Given the description of an element on the screen output the (x, y) to click on. 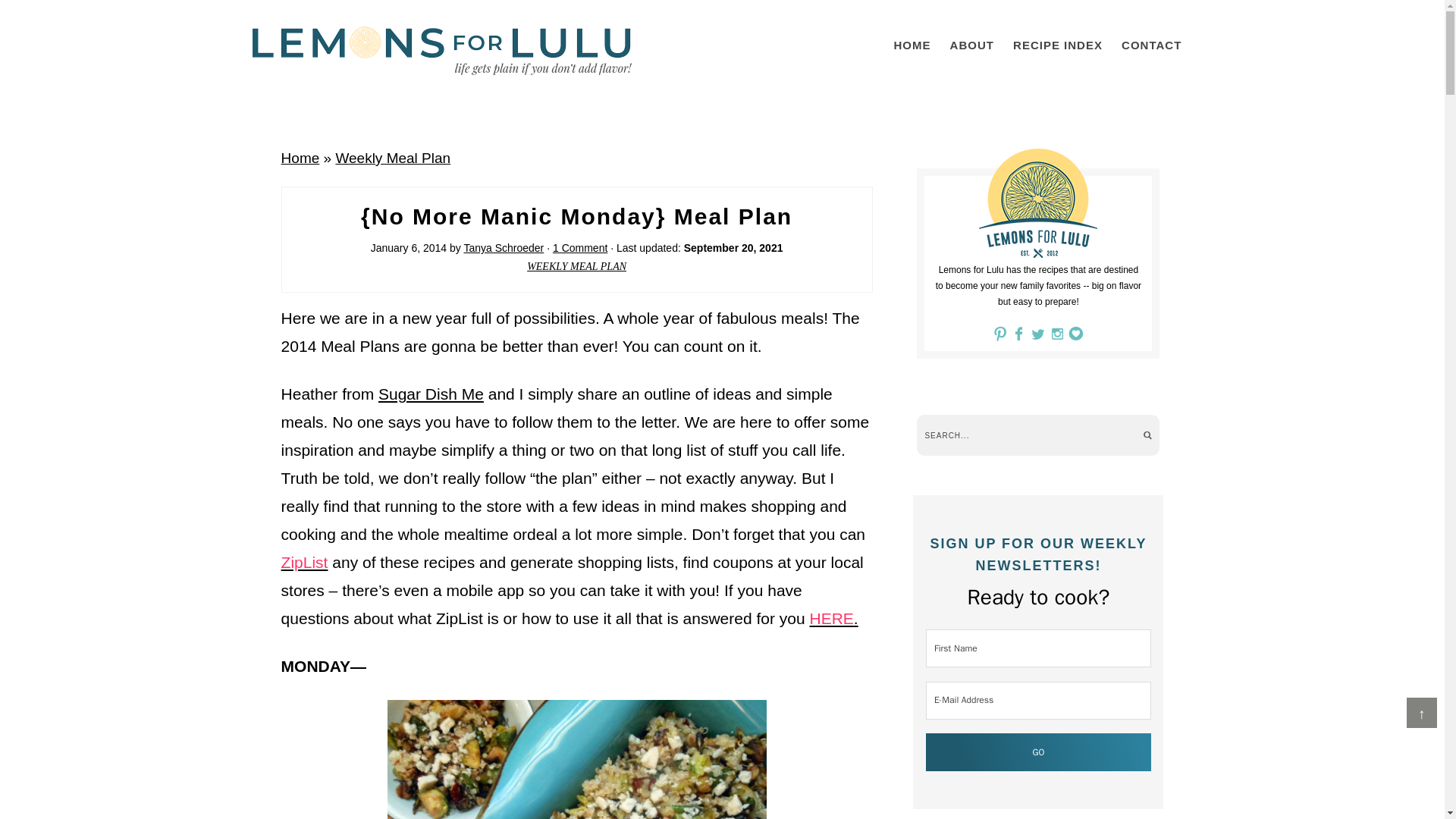
Tanya Schroeder (503, 247)
WEEKLY MEAL PLAN (576, 266)
HERE. (833, 618)
Go (1038, 752)
CONTACT (1151, 44)
Home (300, 157)
Weekly Meal Plan (391, 157)
LEMONSFORLULU.COM (440, 50)
Sugar Dish Me (430, 393)
ABOUT (971, 44)
RECIPE INDEX (1057, 44)
ZipList (305, 561)
1 Comment (580, 247)
HOME (911, 44)
